Given the description of an element on the screen output the (x, y) to click on. 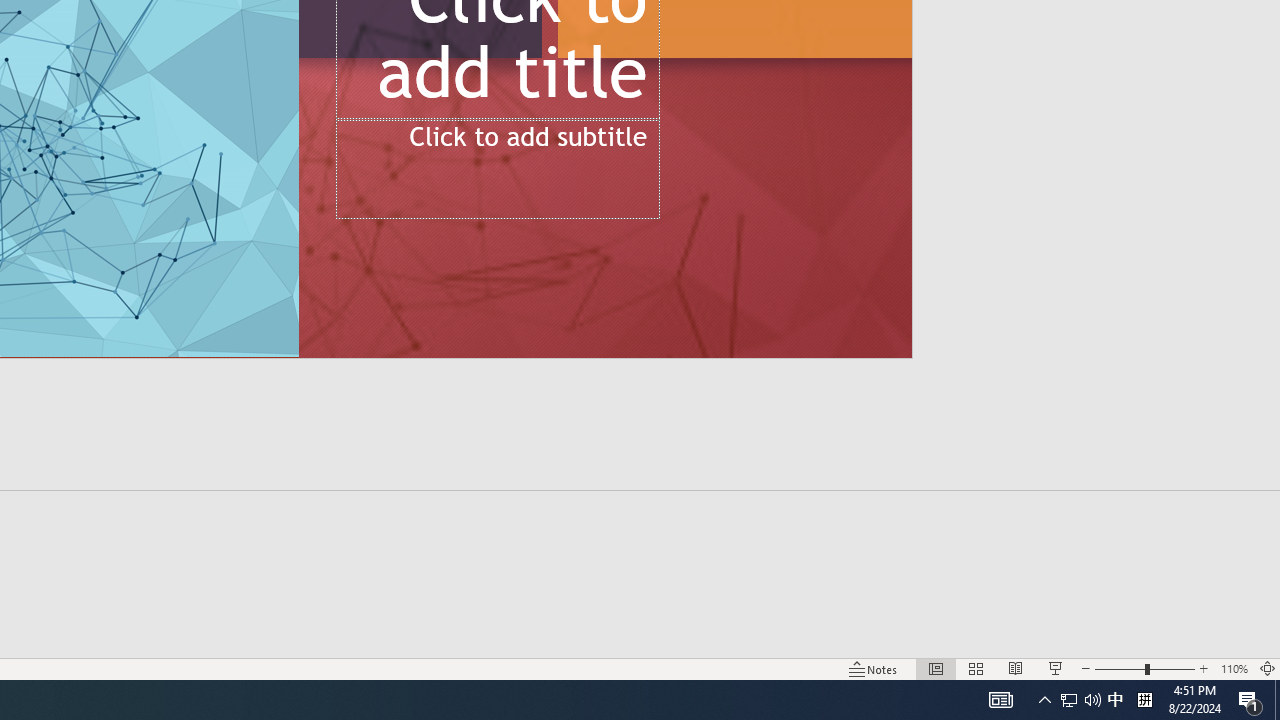
Zoom 110% (1234, 668)
